Given the description of an element on the screen output the (x, y) to click on. 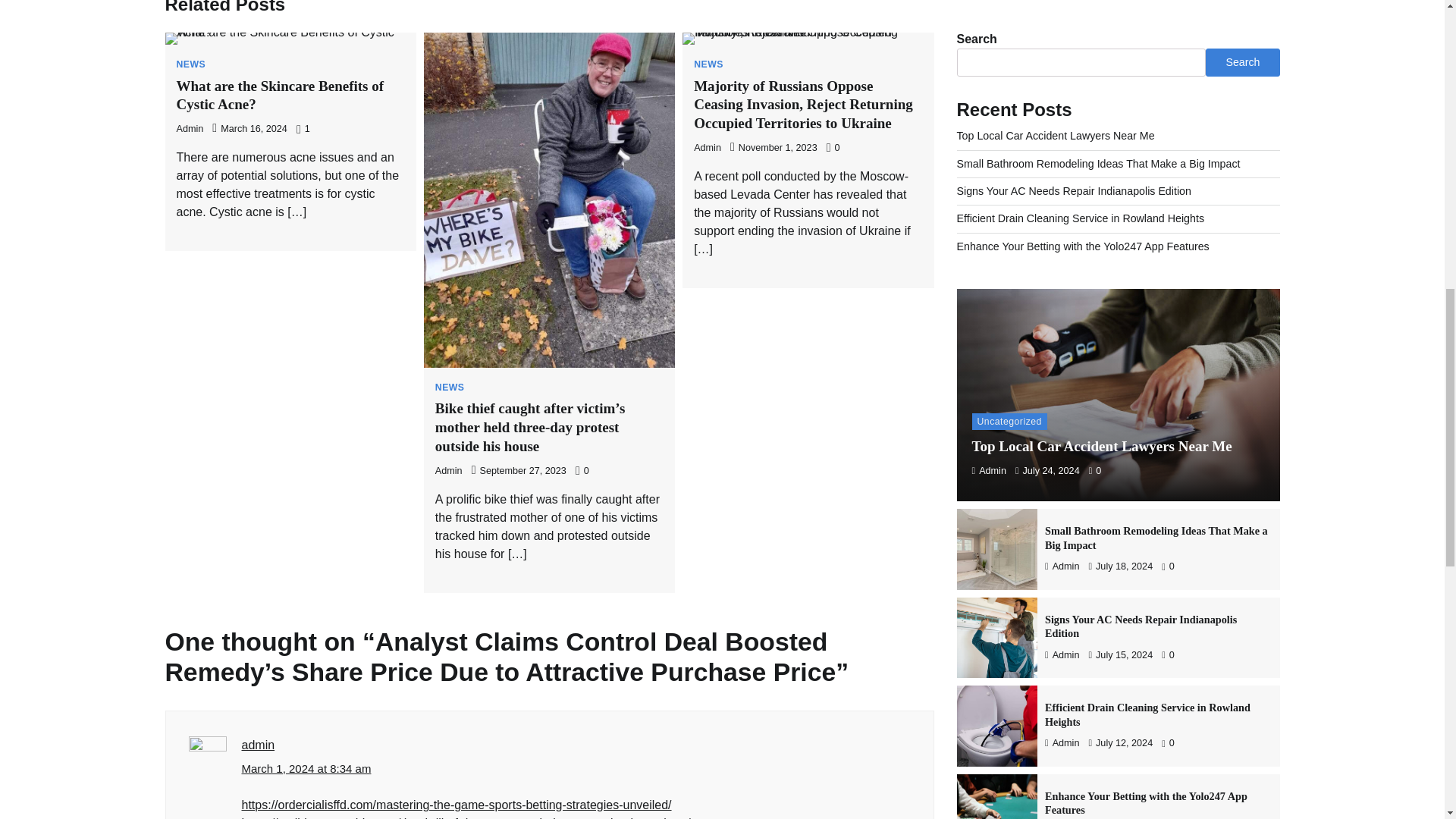
NEWS (708, 63)
Admin (189, 128)
Admin (707, 147)
admin (258, 744)
NEWS (449, 387)
NEWS (190, 63)
What are the Skincare Benefits of Cystic Acne? (280, 95)
Admin (449, 470)
March 1, 2024 at 8:34 am (306, 769)
